Given the description of an element on the screen output the (x, y) to click on. 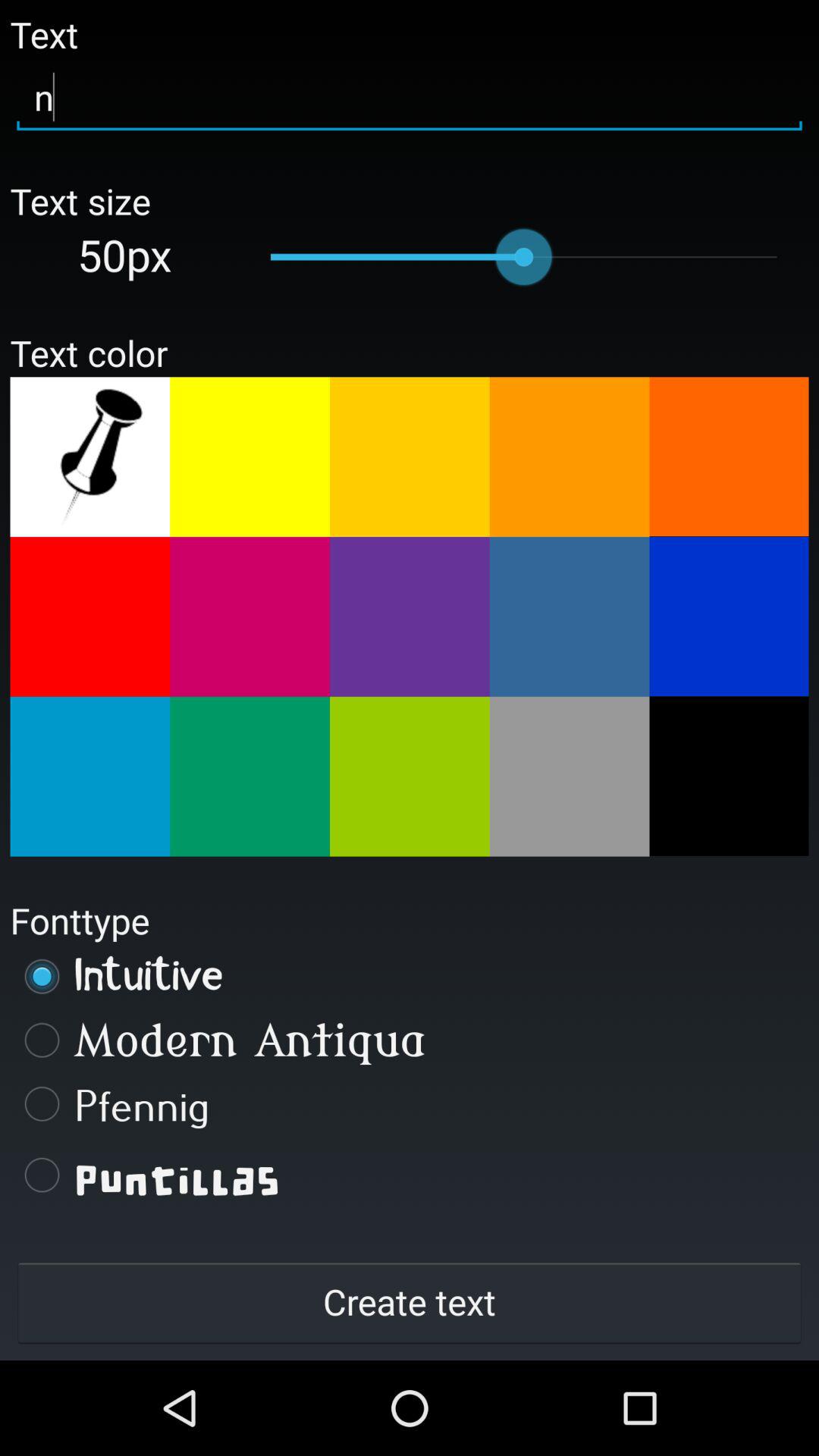
select third color in first row (409, 456)
